Given the description of an element on the screen output the (x, y) to click on. 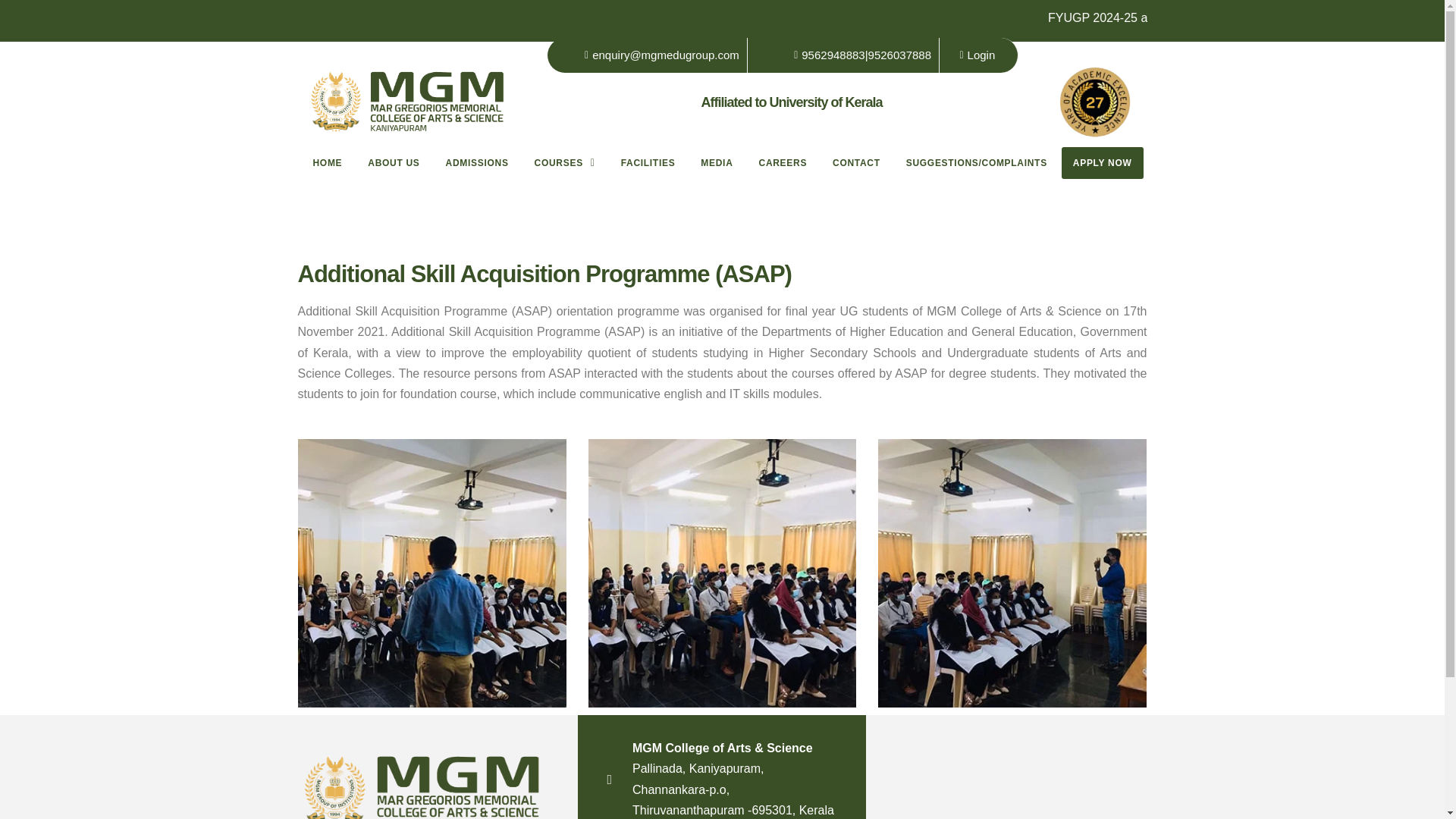
COURSES (564, 163)
Login (970, 55)
HOME (327, 163)
FACILITIES (648, 163)
ADMISSIONS (476, 163)
CONTACT (856, 163)
MEDIA (716, 163)
APPLY NOW (1101, 163)
ABOUT US (393, 163)
CAREERS (783, 163)
